Given the description of an element on the screen output the (x, y) to click on. 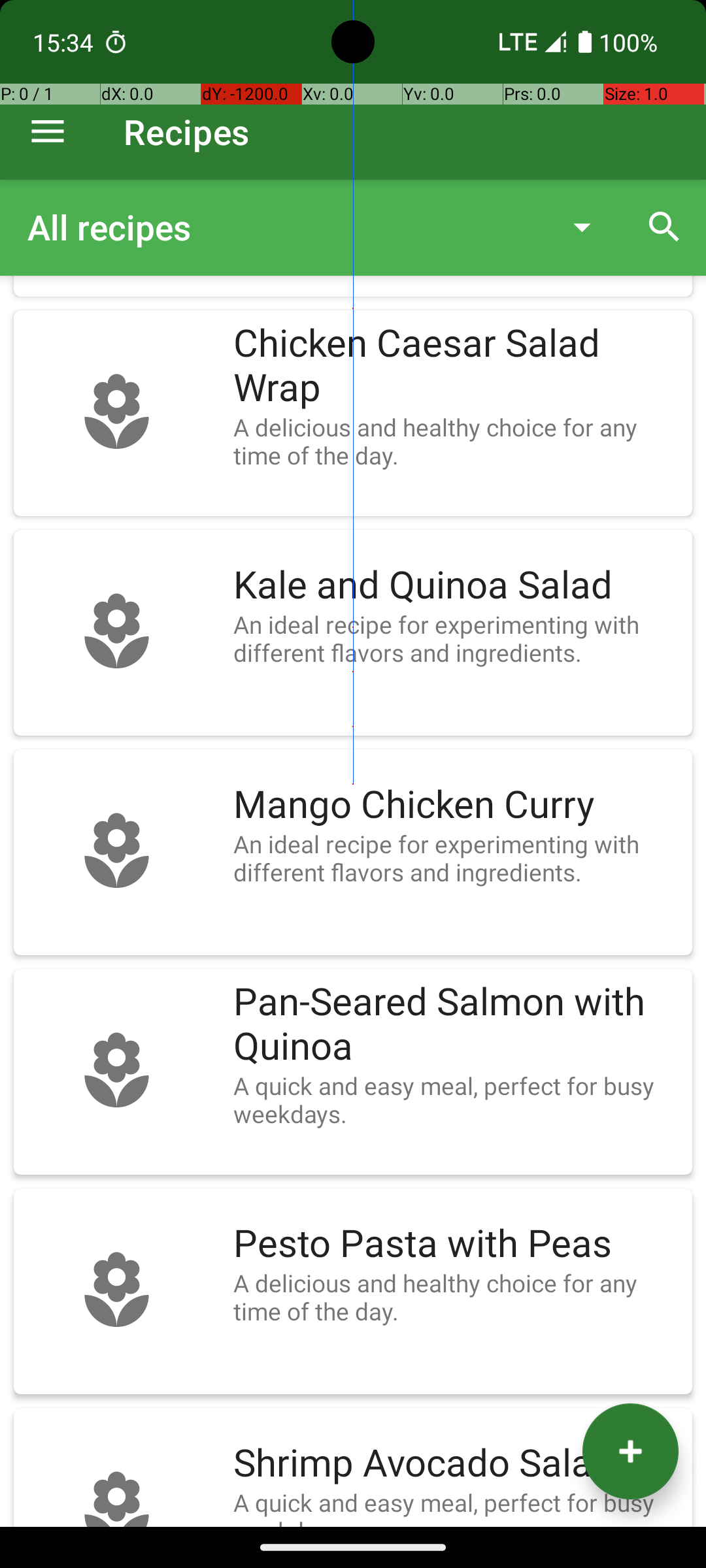
Mango Chicken Curry Element type: android.widget.TextView (455, 804)
Pan-Seared Salmon with Quinoa Element type: android.widget.TextView (455, 1024)
Shrimp Avocado Salad Element type: android.widget.TextView (455, 1463)
